Given the description of an element on the screen output the (x, y) to click on. 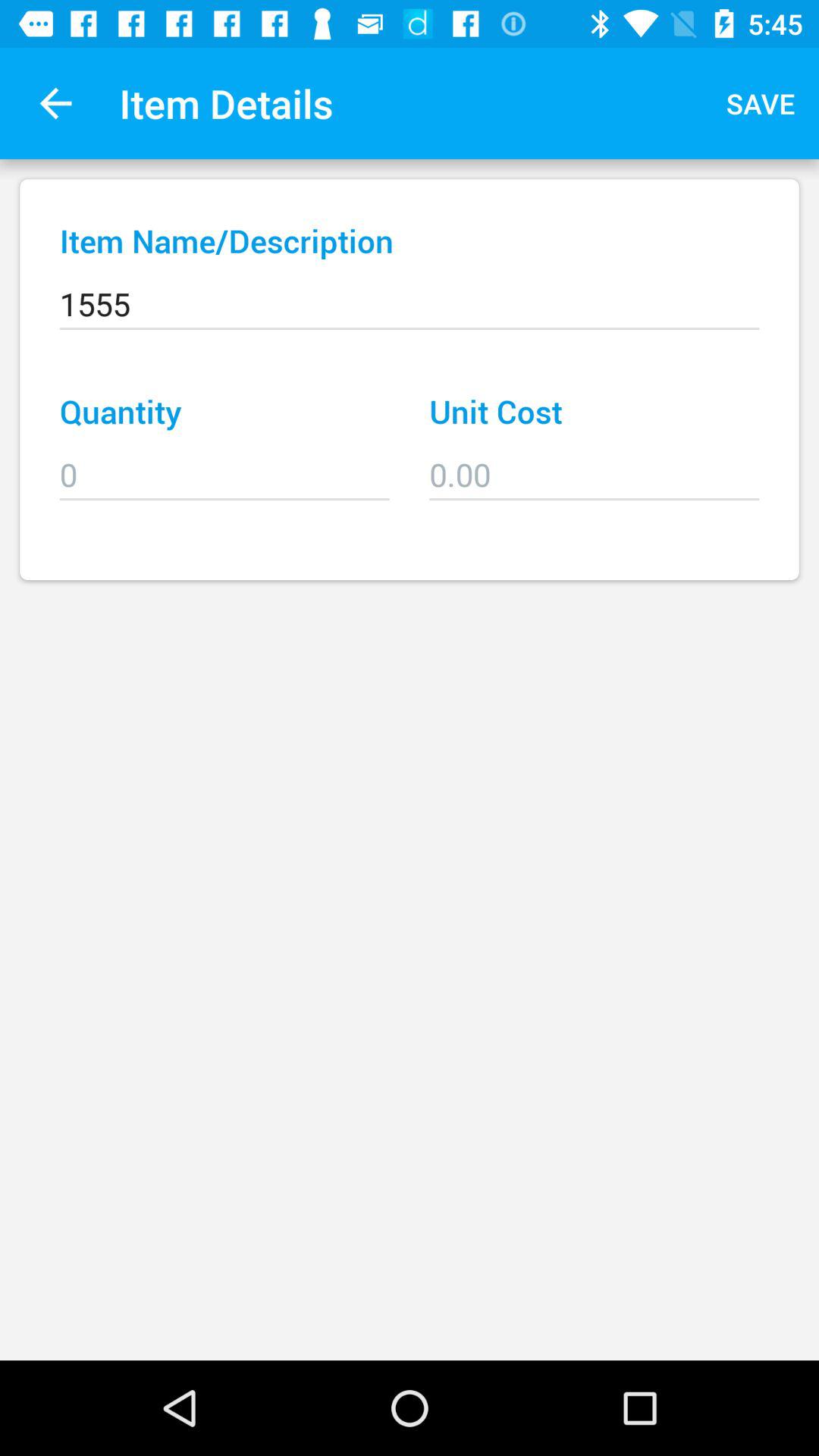
choose the icon to the right of item details app (760, 103)
